Given the description of an element on the screen output the (x, y) to click on. 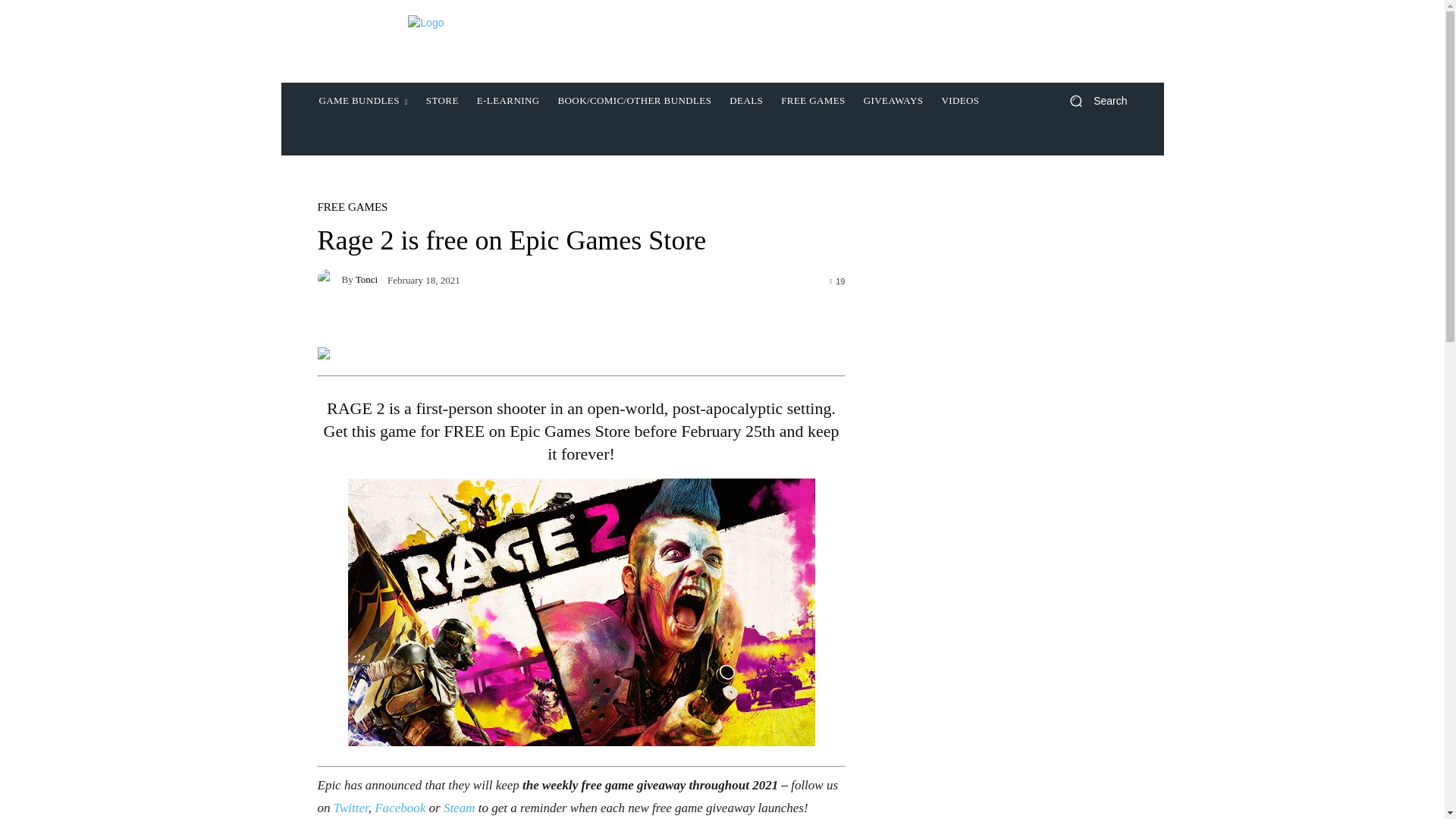
GAME BUNDLES (362, 100)
Steam (460, 807)
Rage 2 is free on Epic Games Store 1 (580, 612)
DEALS (745, 100)
Search (1092, 100)
FREE GAMES (352, 206)
VIDEOS (959, 100)
E-LEARNING (507, 100)
FREE GAMES (812, 100)
STORE (441, 100)
Tonci (328, 279)
19 (837, 280)
GIVEAWAYS (893, 100)
Tonci (366, 279)
Twitter (350, 807)
